Given the description of an element on the screen output the (x, y) to click on. 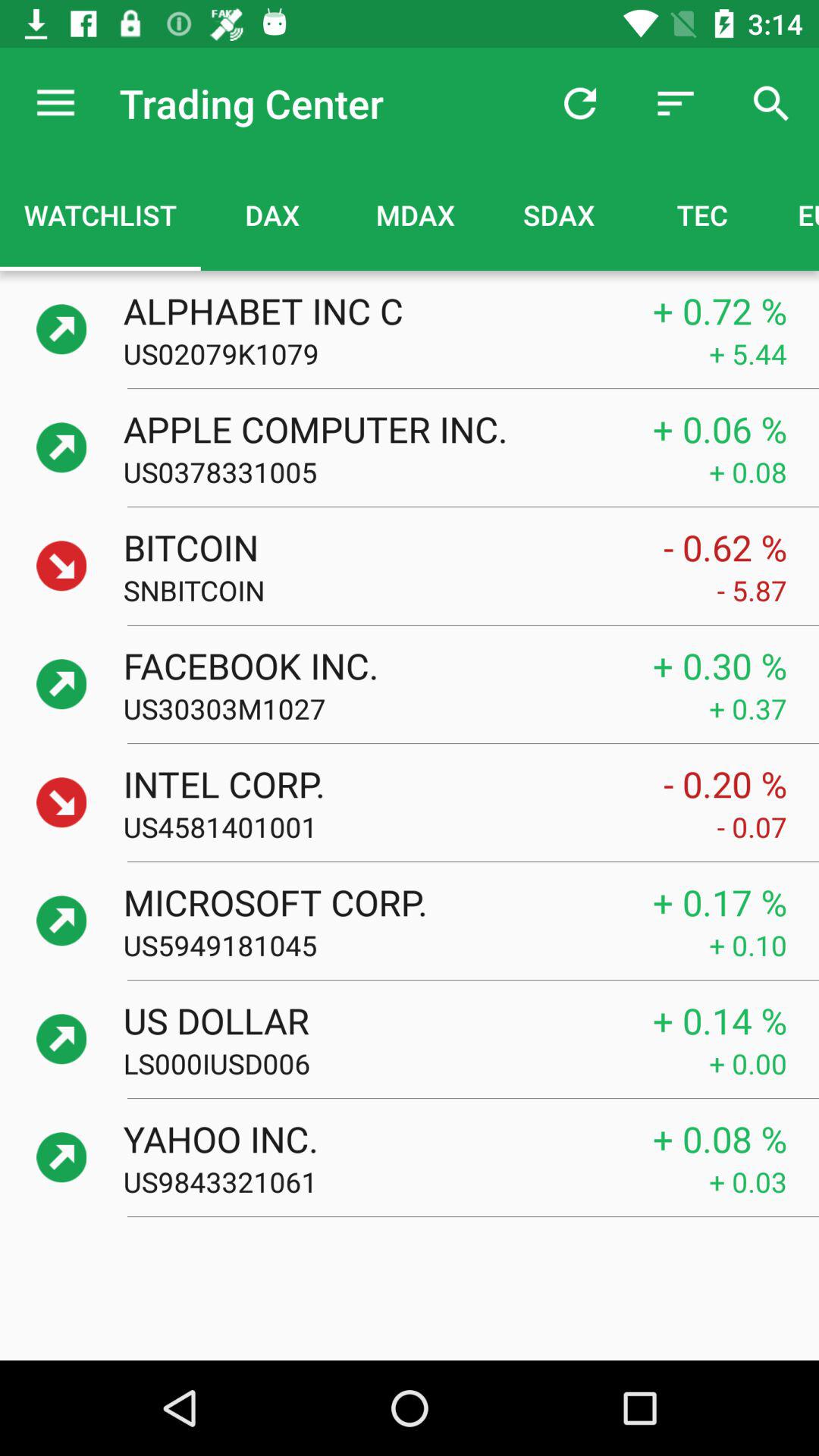
choose icon below intel corp. icon (420, 826)
